Given the description of an element on the screen output the (x, y) to click on. 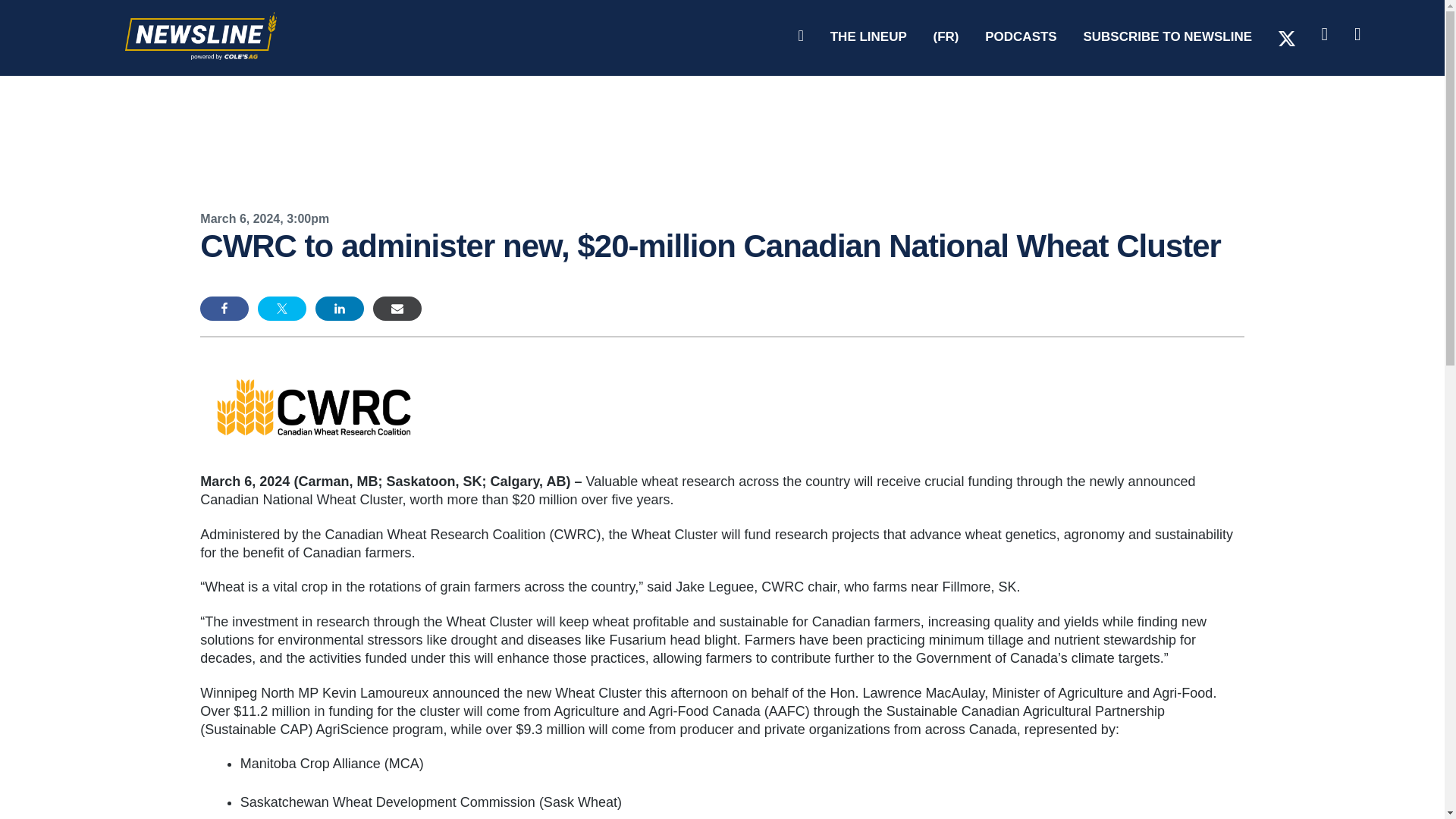
PODCASTS (1021, 37)
SUBSCRIBE TO NEWSLINE (1167, 37)
Share via Email (397, 308)
Share on LinkedIn (339, 308)
THE LINEUP (868, 37)
Share on Twitter (281, 308)
Share on Facebook (224, 308)
Newsline by Cole's Ag (200, 99)
